Given the description of an element on the screen output the (x, y) to click on. 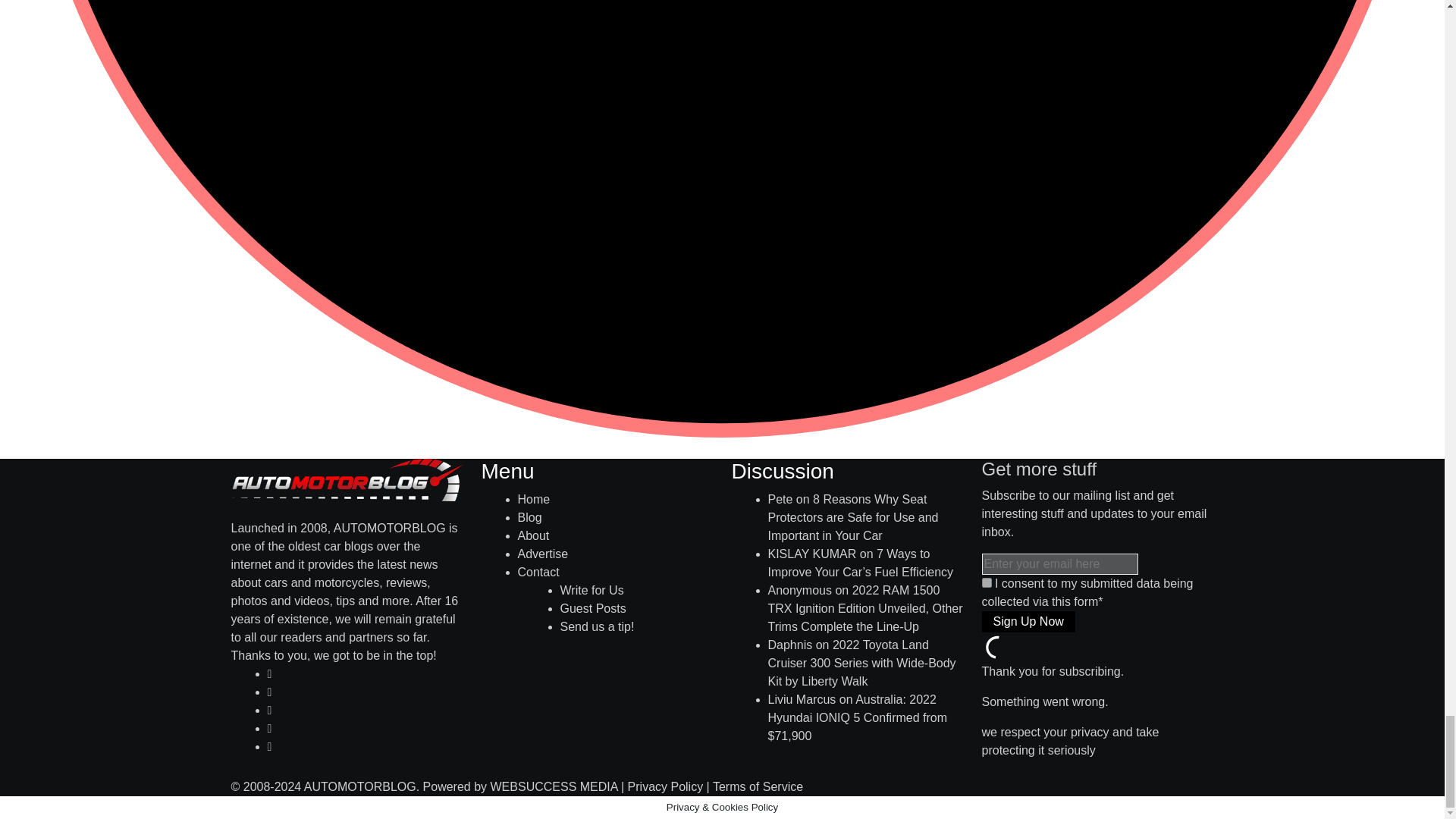
Privacy Policy (665, 786)
Sign Up Now (1027, 621)
on (986, 583)
